Given the description of an element on the screen output the (x, y) to click on. 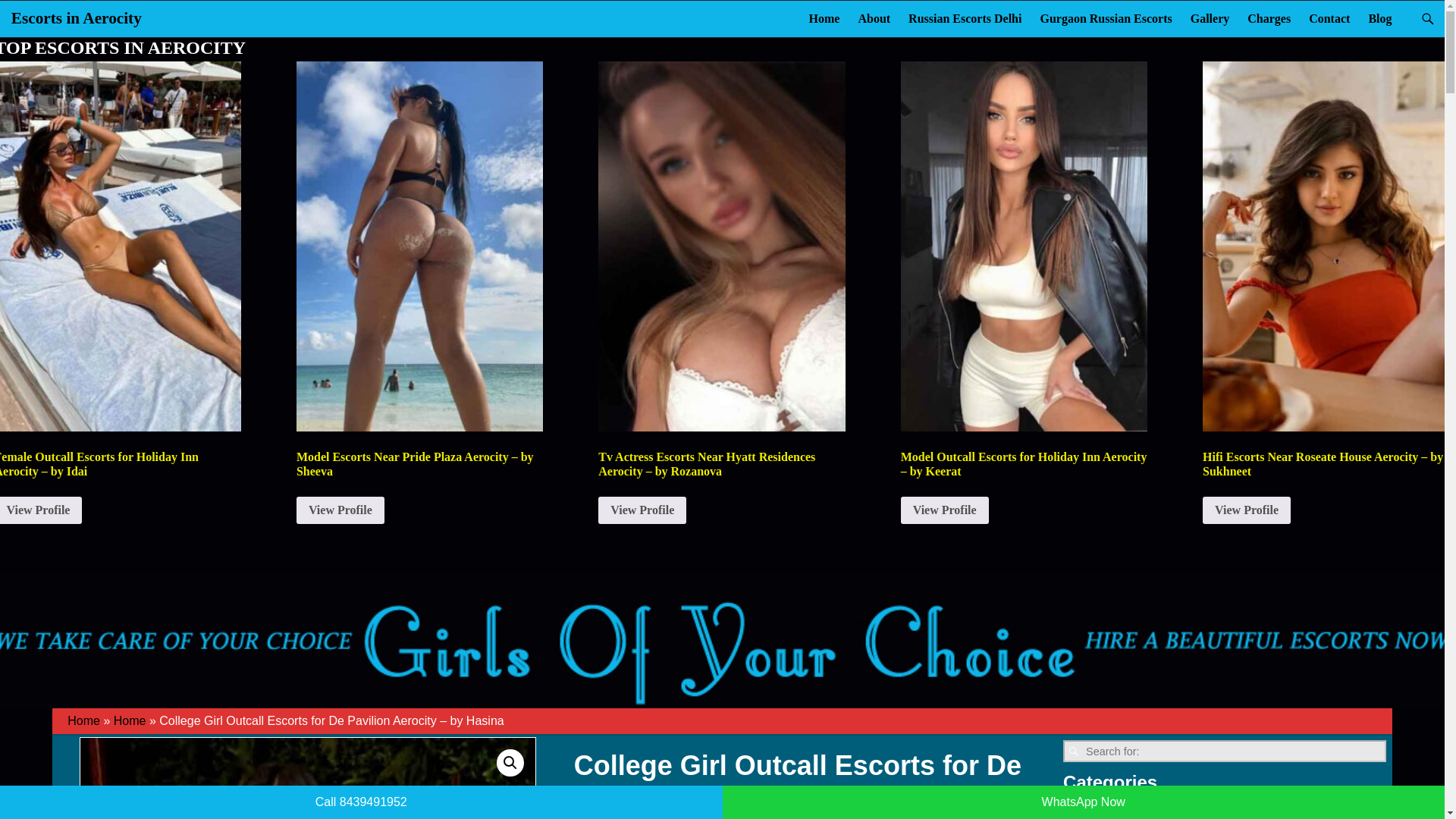
hasina (307, 778)
View Profile (641, 510)
About (873, 17)
Escorts in Aerocity (76, 18)
Charges (1269, 17)
View Profile (40, 510)
View Profile (340, 510)
Home (83, 720)
View Profile (1246, 510)
Contact (1329, 17)
Gurgaon Russian Escorts (1105, 17)
Gallery (1209, 17)
Blog (1379, 17)
View Profile (944, 510)
Home (823, 17)
